Given the description of an element on the screen output the (x, y) to click on. 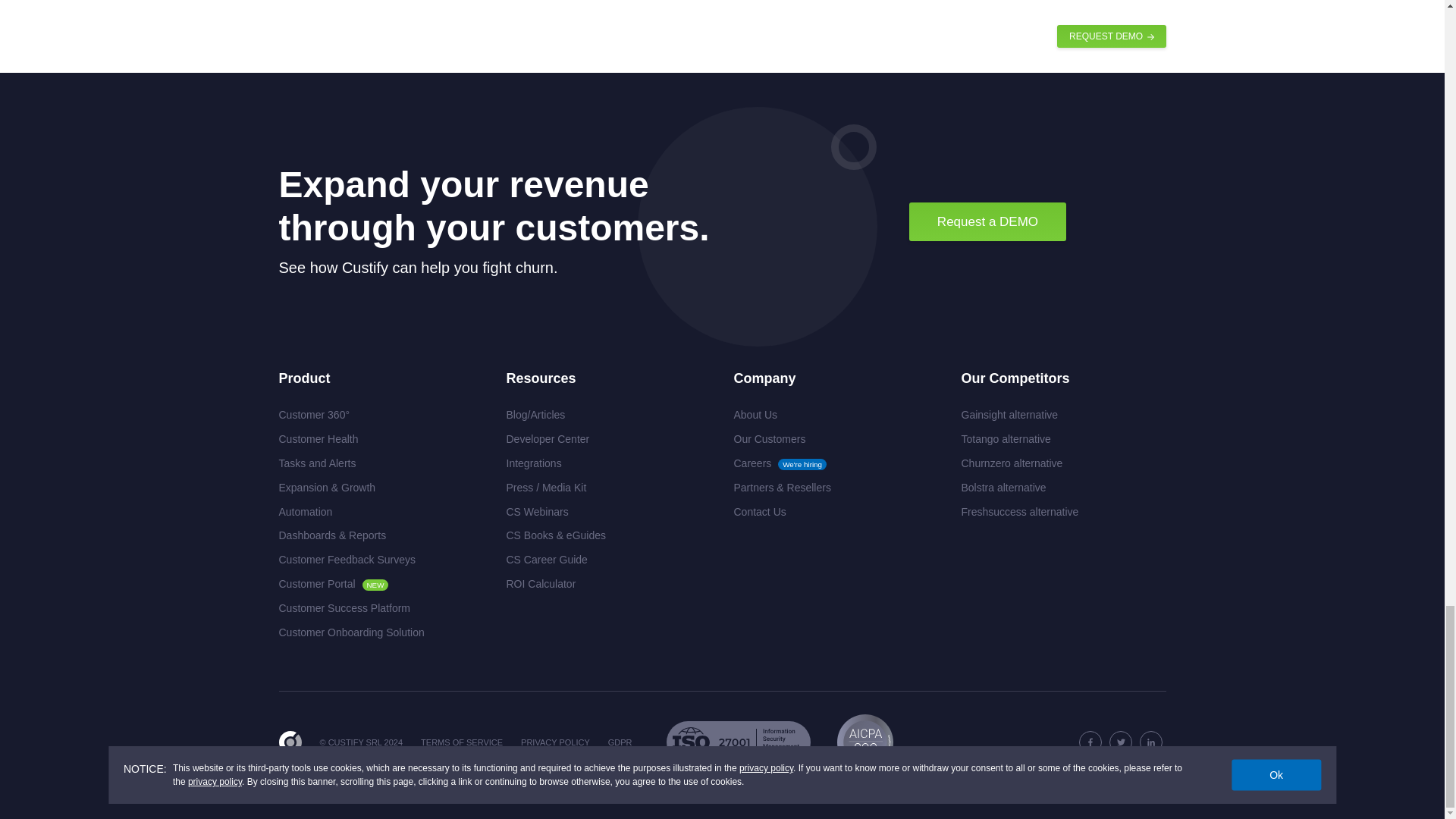
Request a DEMO (986, 221)
Customer Feedback Surveys (347, 559)
Tasks and Alerts (317, 463)
Customer Health (318, 439)
Automation (306, 511)
Customer Portal (317, 584)
